Given the description of an element on the screen output the (x, y) to click on. 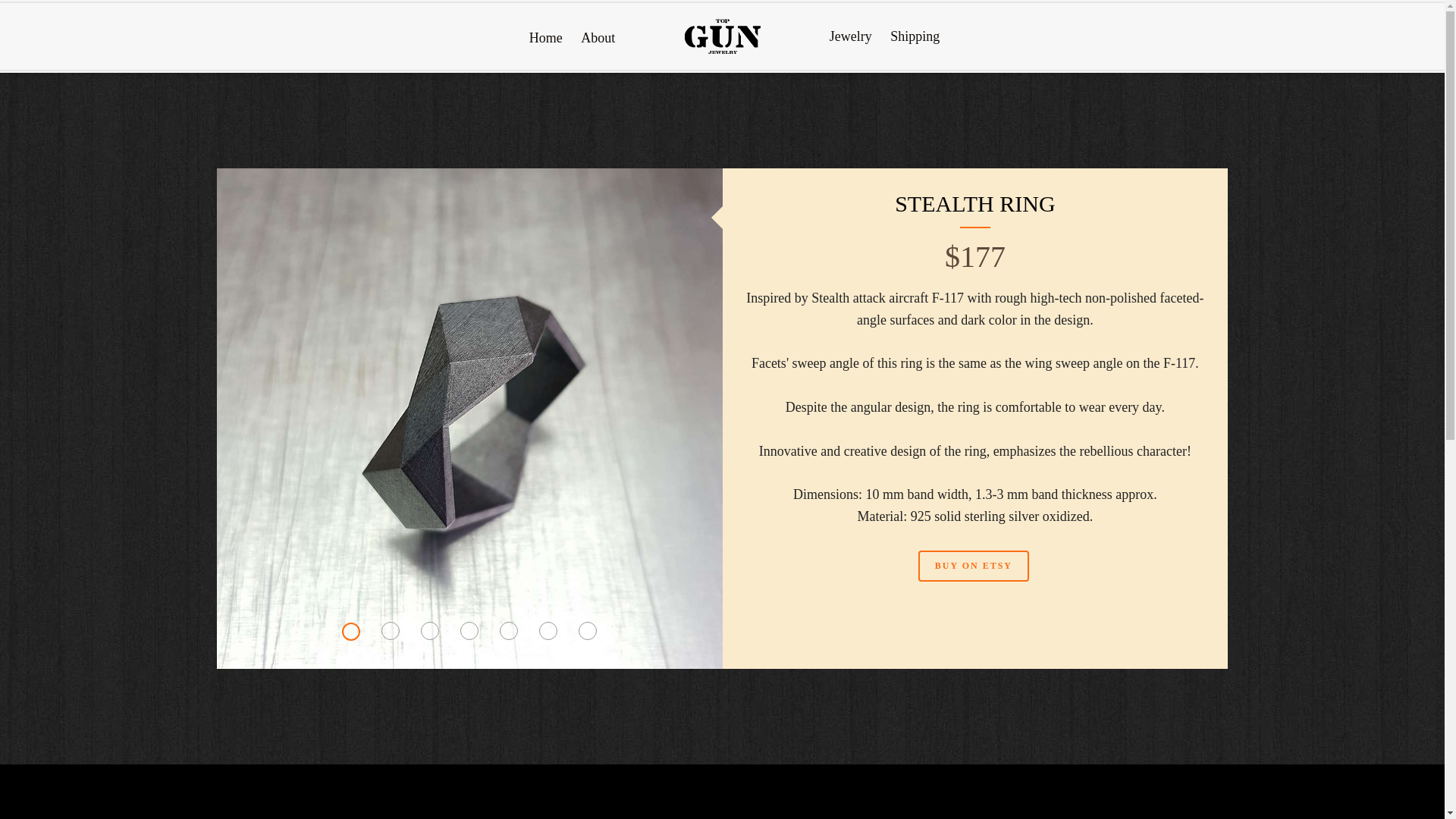
Shipping (914, 35)
About (598, 37)
6 (547, 630)
7 (587, 630)
1 (350, 631)
4 (469, 630)
Jewelry (850, 35)
3 (429, 630)
Home (545, 37)
2 (389, 630)
